Given the description of an element on the screen output the (x, y) to click on. 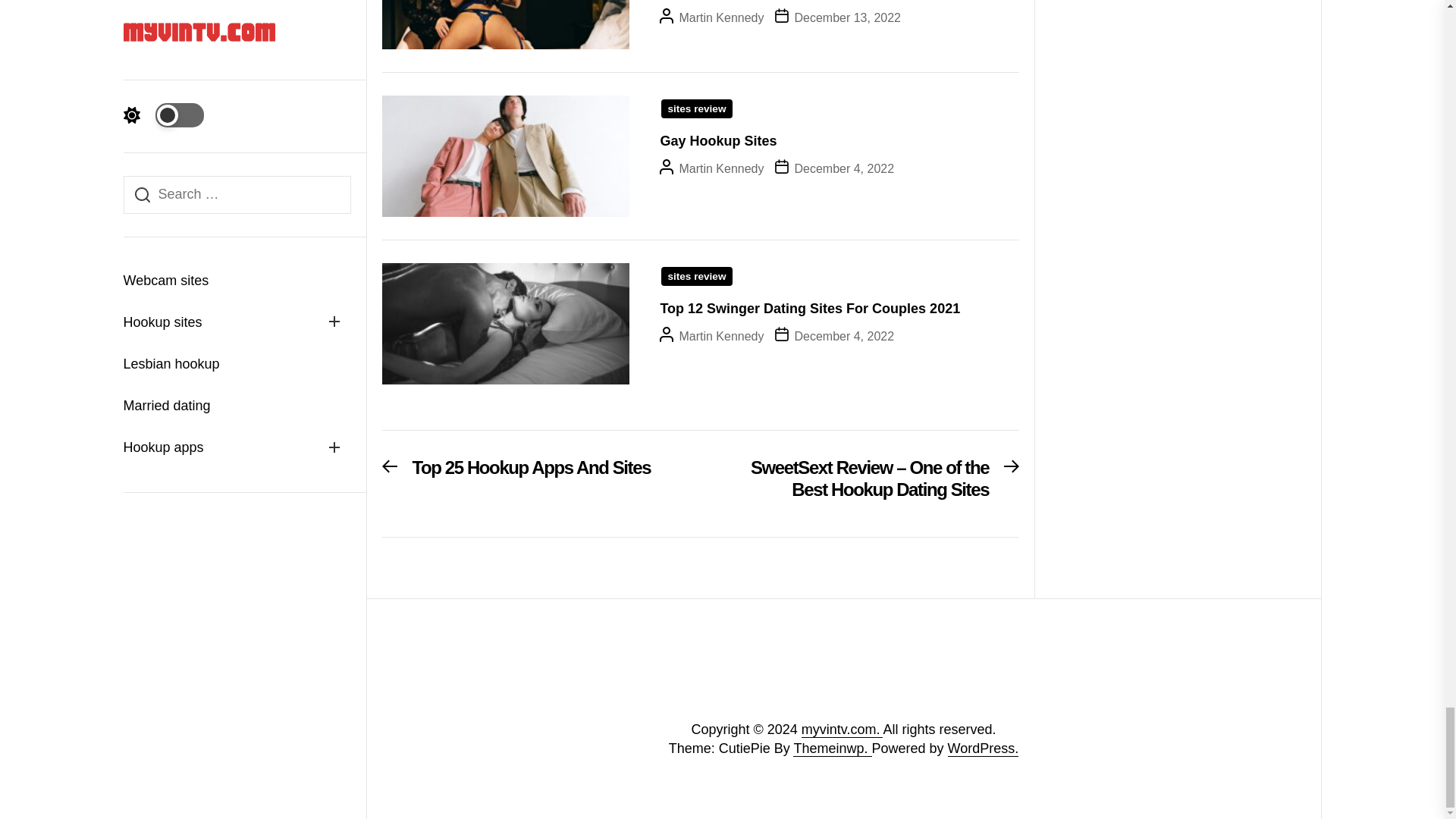
Themeinwp (831, 748)
myvintv.com (842, 729)
WordPress (983, 748)
